Given the description of an element on the screen output the (x, y) to click on. 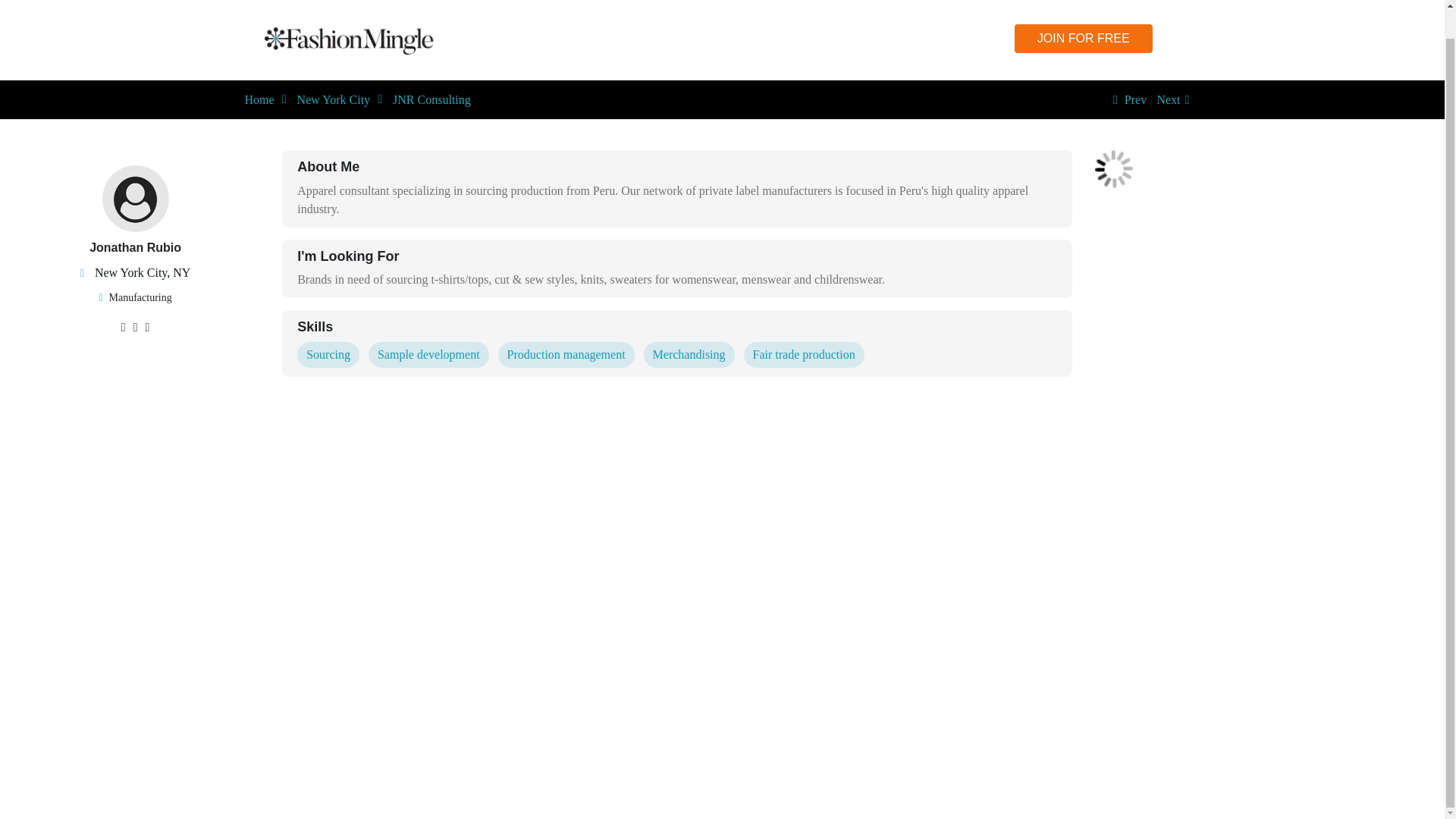
Next (1175, 99)
Fair trade production (804, 354)
Production management (565, 354)
Sourcing (328, 354)
Manufacturing (140, 297)
New York City (333, 99)
JOIN FOR FREE (1083, 38)
Prev (1127, 99)
Sample development (428, 354)
JNR Consulting (431, 99)
